Given the description of an element on the screen output the (x, y) to click on. 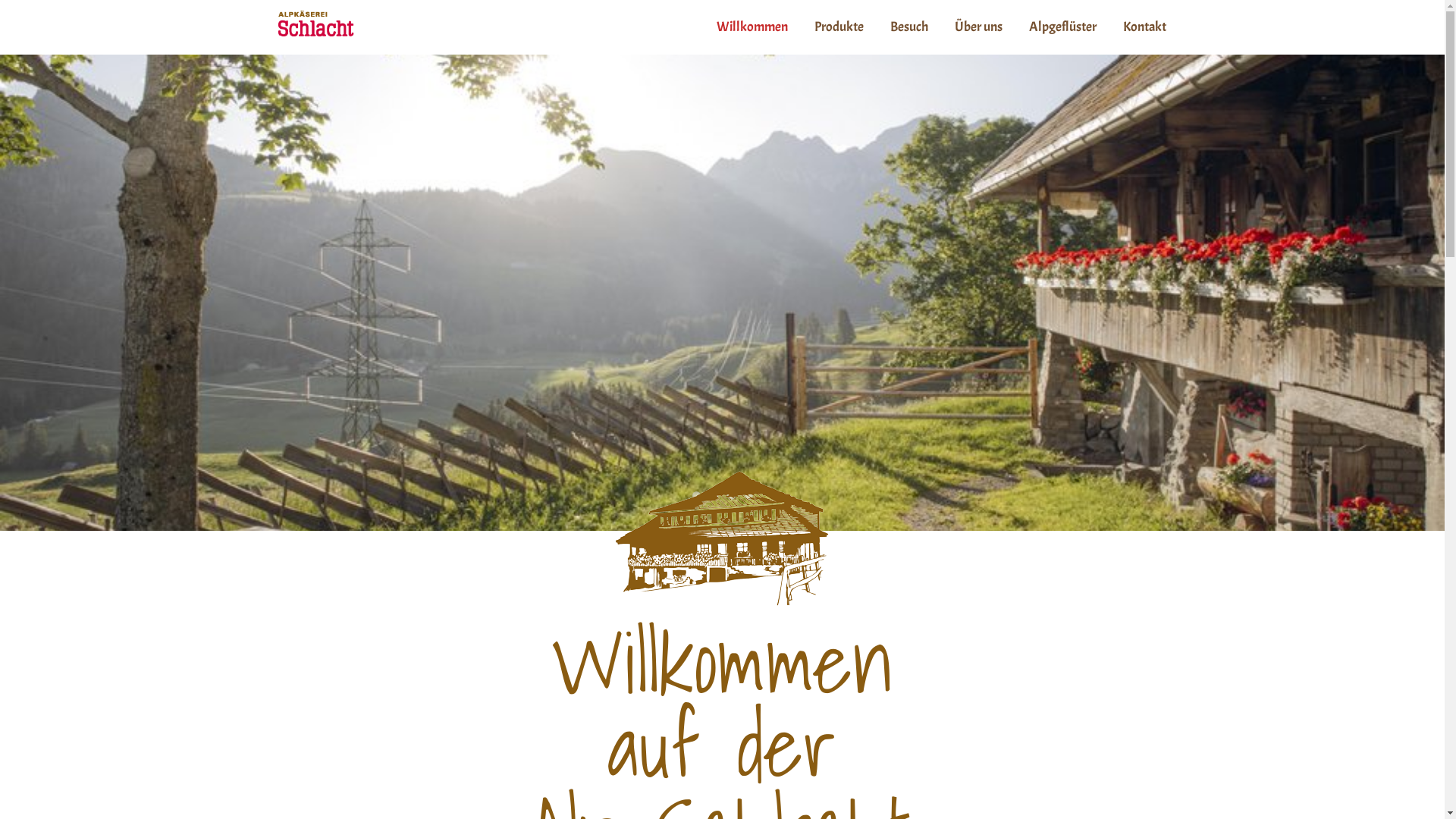
Besuch Element type: text (909, 27)
4 Element type: text (748, 495)
3 Element type: text (730, 495)
1 Element type: text (695, 495)
Willkommen Element type: text (751, 27)
2 Element type: text (713, 495)
Kaeserei-Schlacht-braun Element type: hover (721, 539)
Produkte Element type: text (838, 27)
Kontakt Element type: text (1144, 27)
